Given the description of an element on the screen output the (x, y) to click on. 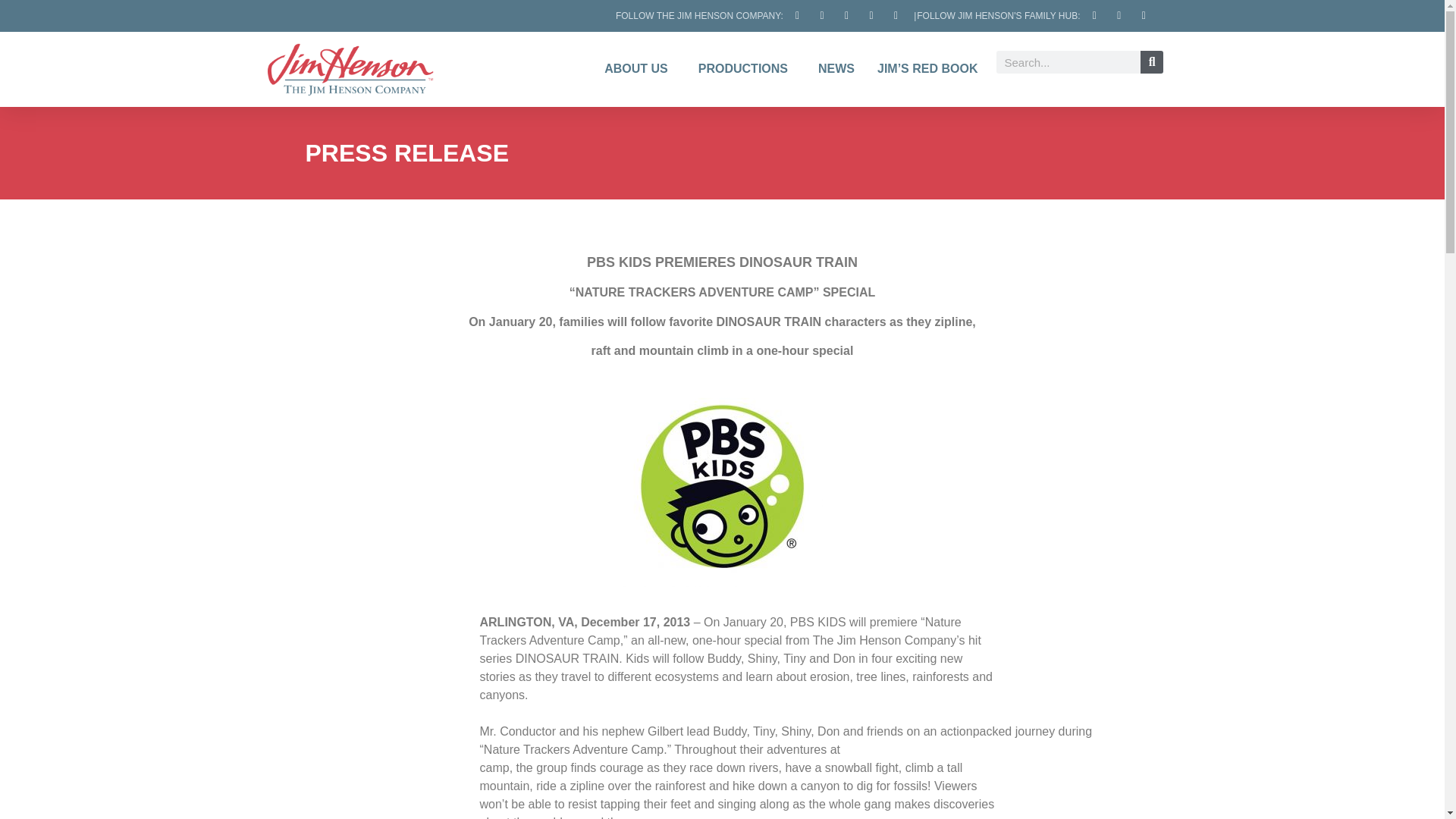
NEWS (836, 68)
PRODUCTIONS (746, 68)
ABOUT US (639, 68)
